Given the description of an element on the screen output the (x, y) to click on. 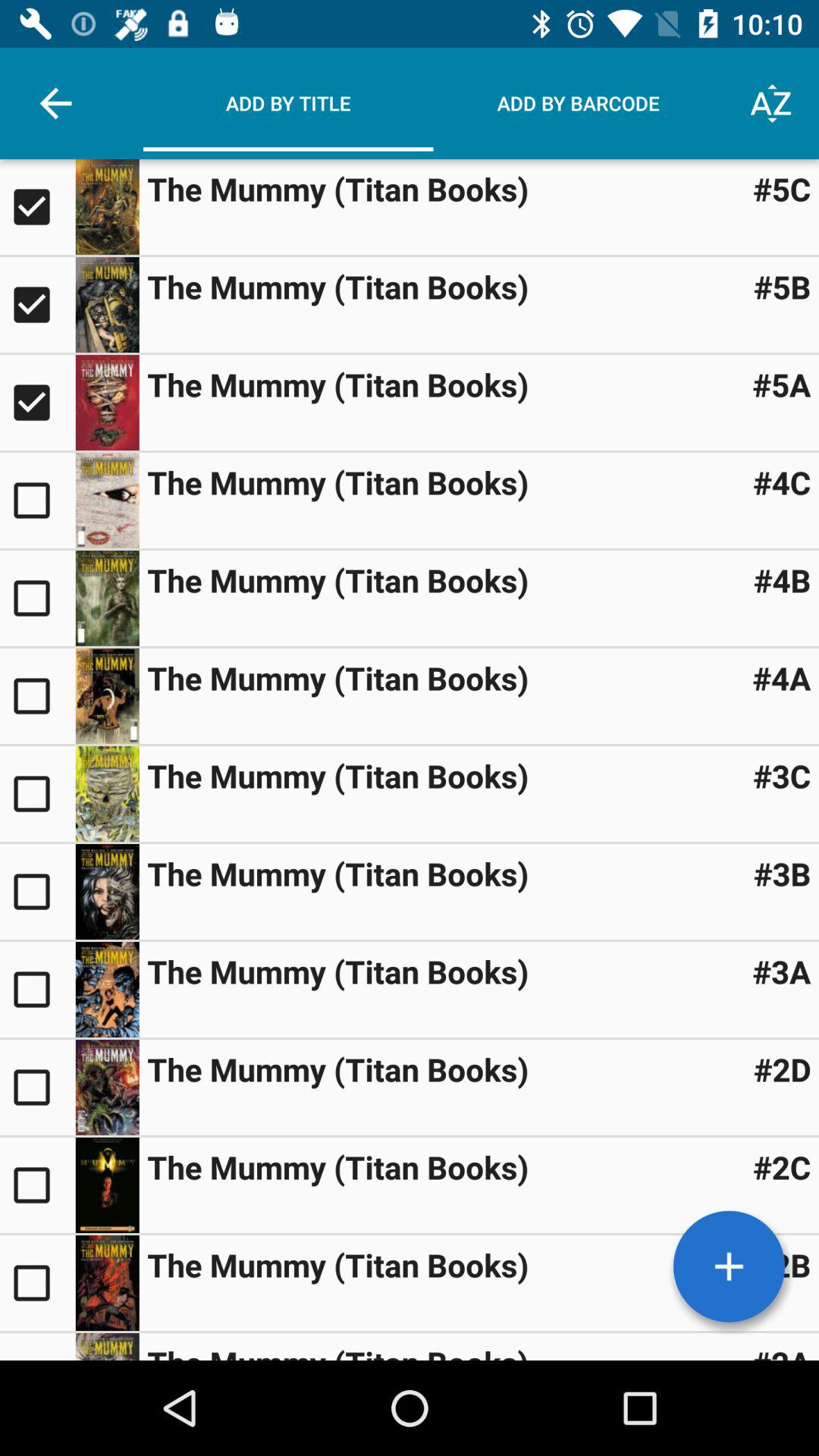
turn off the icon above the #3a item (782, 873)
